Given the description of an element on the screen output the (x, y) to click on. 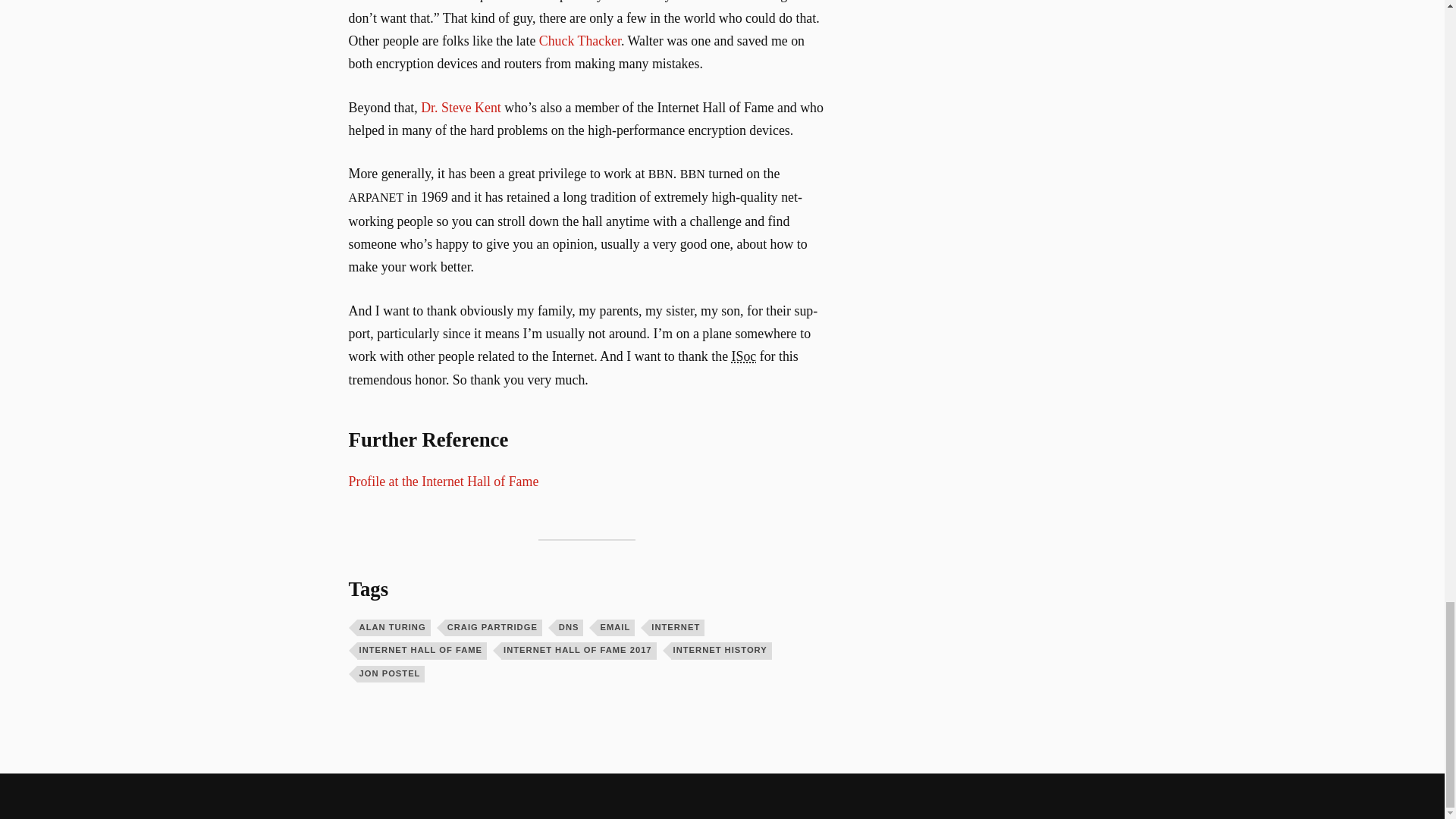
INTERNET (676, 627)
Chuck Thacker (579, 40)
INTERNET HALL OF FAME 2017 (578, 650)
INTERNET HISTORY (721, 650)
Internet Society (744, 355)
ALAN TURING (393, 627)
Dr. Steve Kent (460, 107)
Profile at the Internet Hall of Fame (443, 481)
CRAIG PARTRIDGE (493, 627)
DNS (569, 627)
JON POSTEL (390, 673)
EMAIL (615, 627)
INTERNET HALL OF FAME (421, 650)
